Given the description of an element on the screen output the (x, y) to click on. 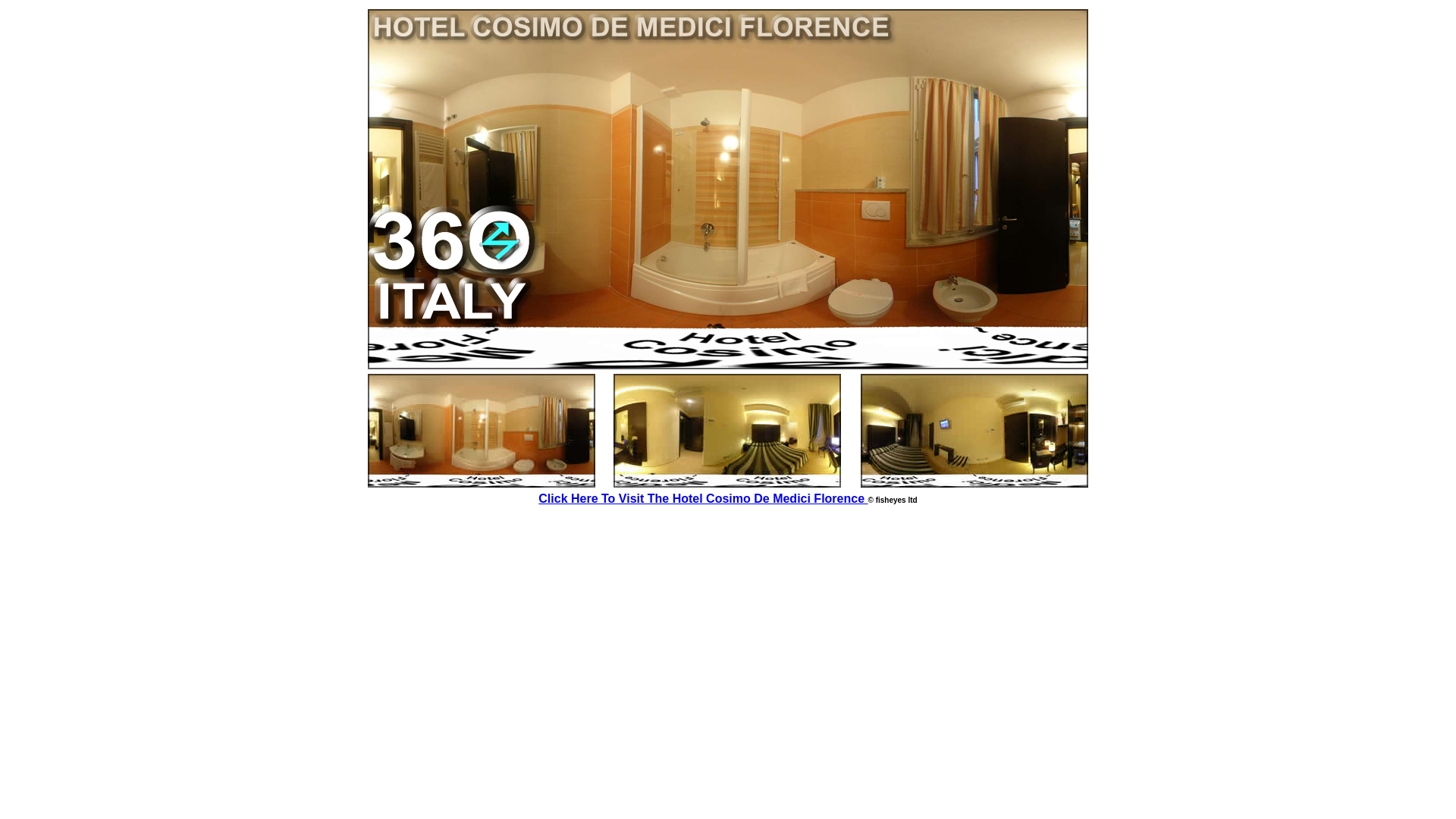
Click Here To Visit The Hotel Cosimo De Medici Florence Element type: text (702, 499)
